Given the description of an element on the screen output the (x, y) to click on. 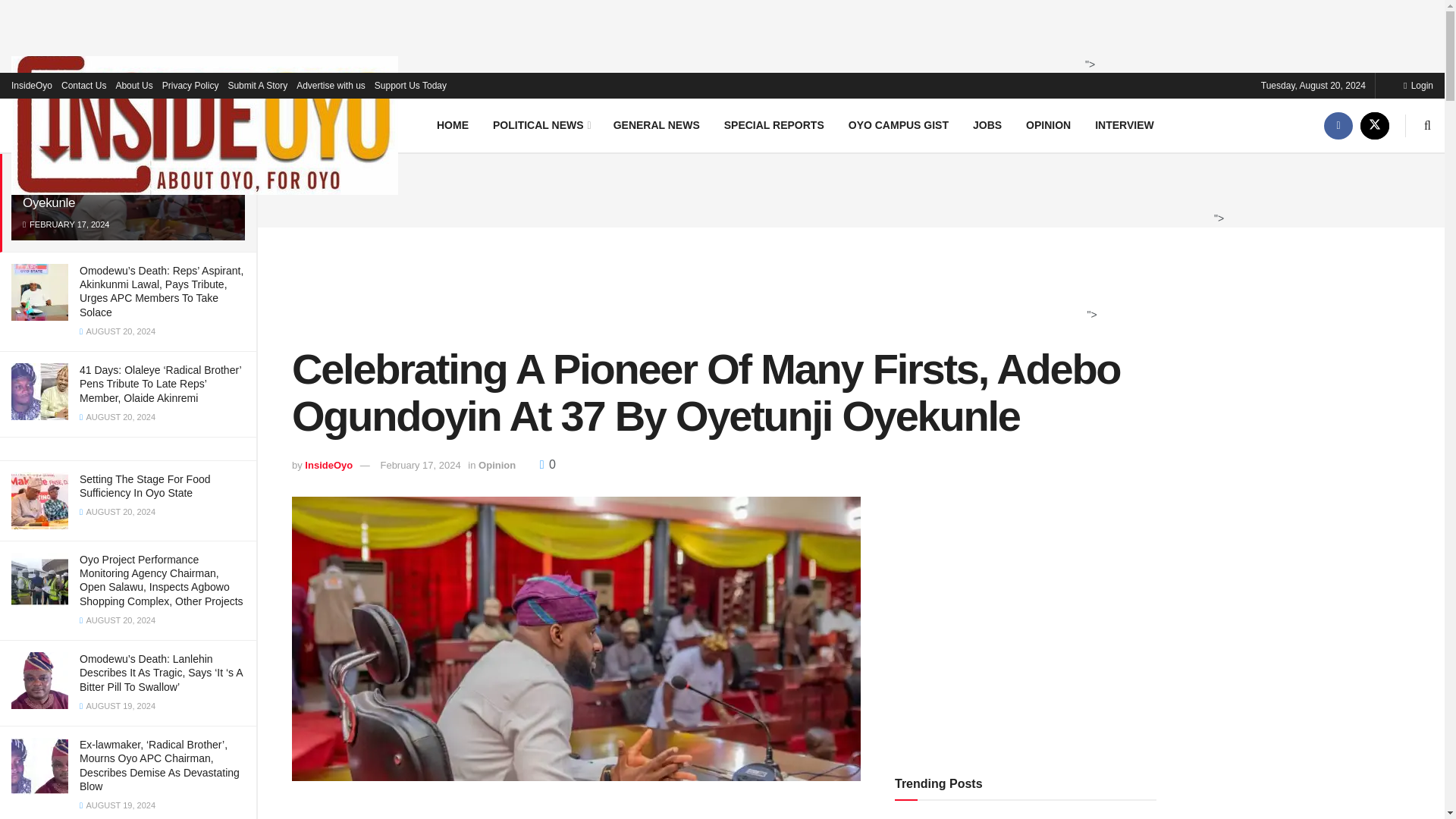
Contact Us (83, 85)
Advertisement (716, 33)
HOME (452, 125)
Advertisement (718, 284)
Submit A Story (256, 85)
Advertisement (571, 811)
Filter (227, 96)
InsideOyo (31, 85)
Support Us Today (410, 85)
Login (1417, 85)
